Given the description of an element on the screen output the (x, y) to click on. 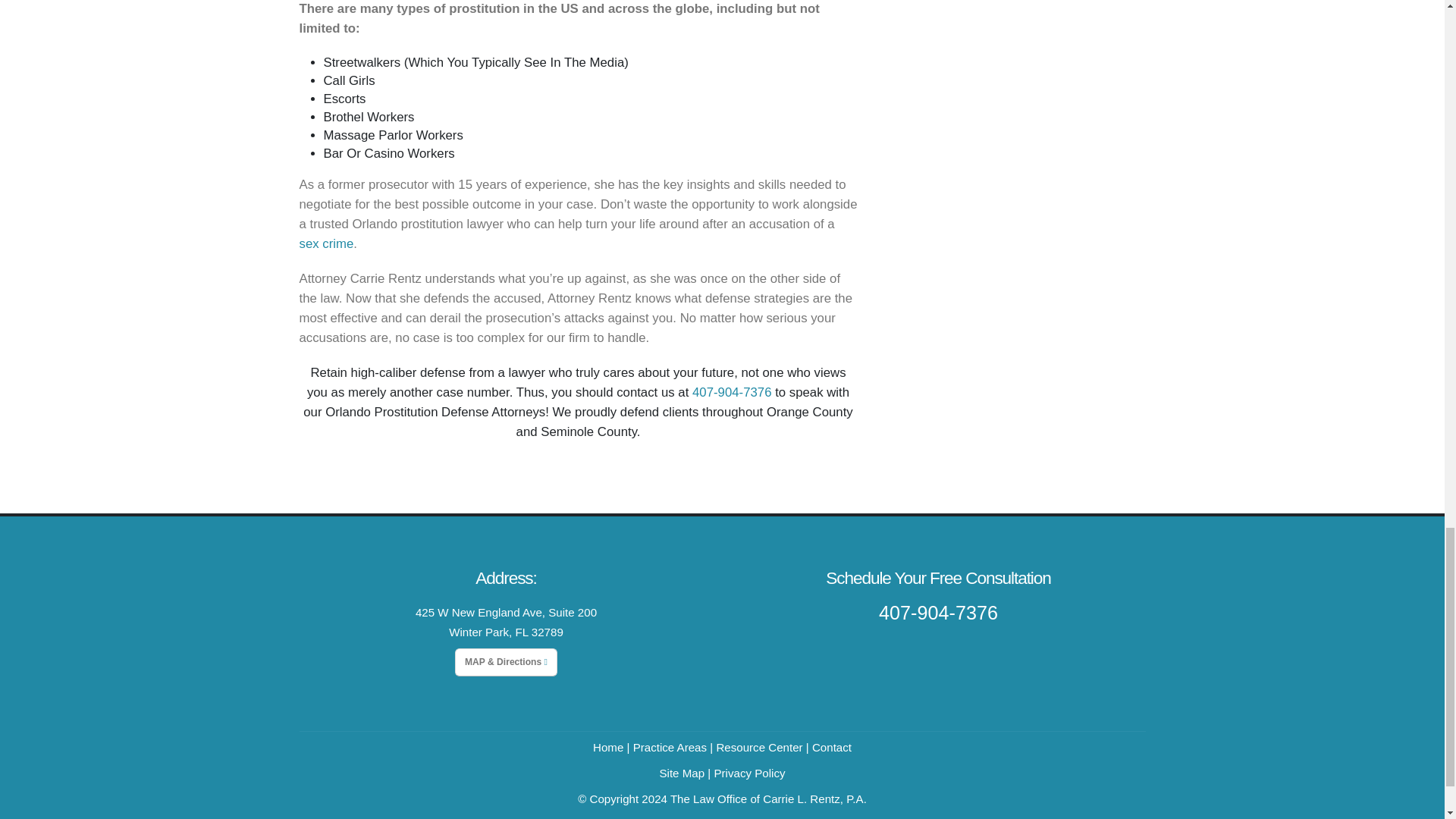
sex crime (325, 243)
407-904-7376 (732, 391)
